Given the description of an element on the screen output the (x, y) to click on. 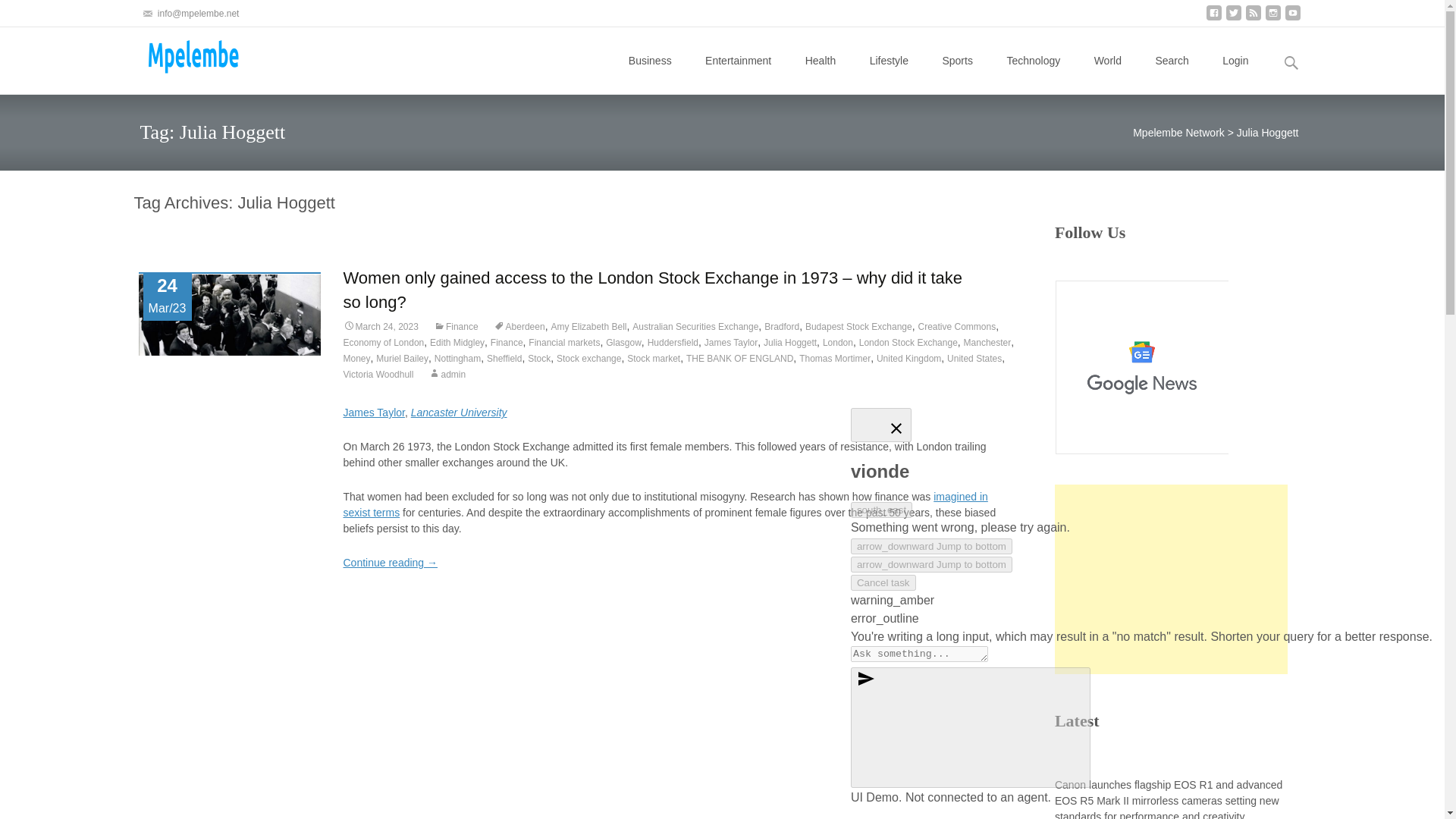
Mpelembe Network (178, 57)
facebook (1213, 18)
View all posts by admin (446, 374)
Entertainment (737, 60)
Advertisement (1170, 579)
Go to Mpelembe Network. (1178, 132)
youtube (1292, 18)
twitter (1232, 18)
feed (1252, 18)
instagram (1272, 18)
